Given the description of an element on the screen output the (x, y) to click on. 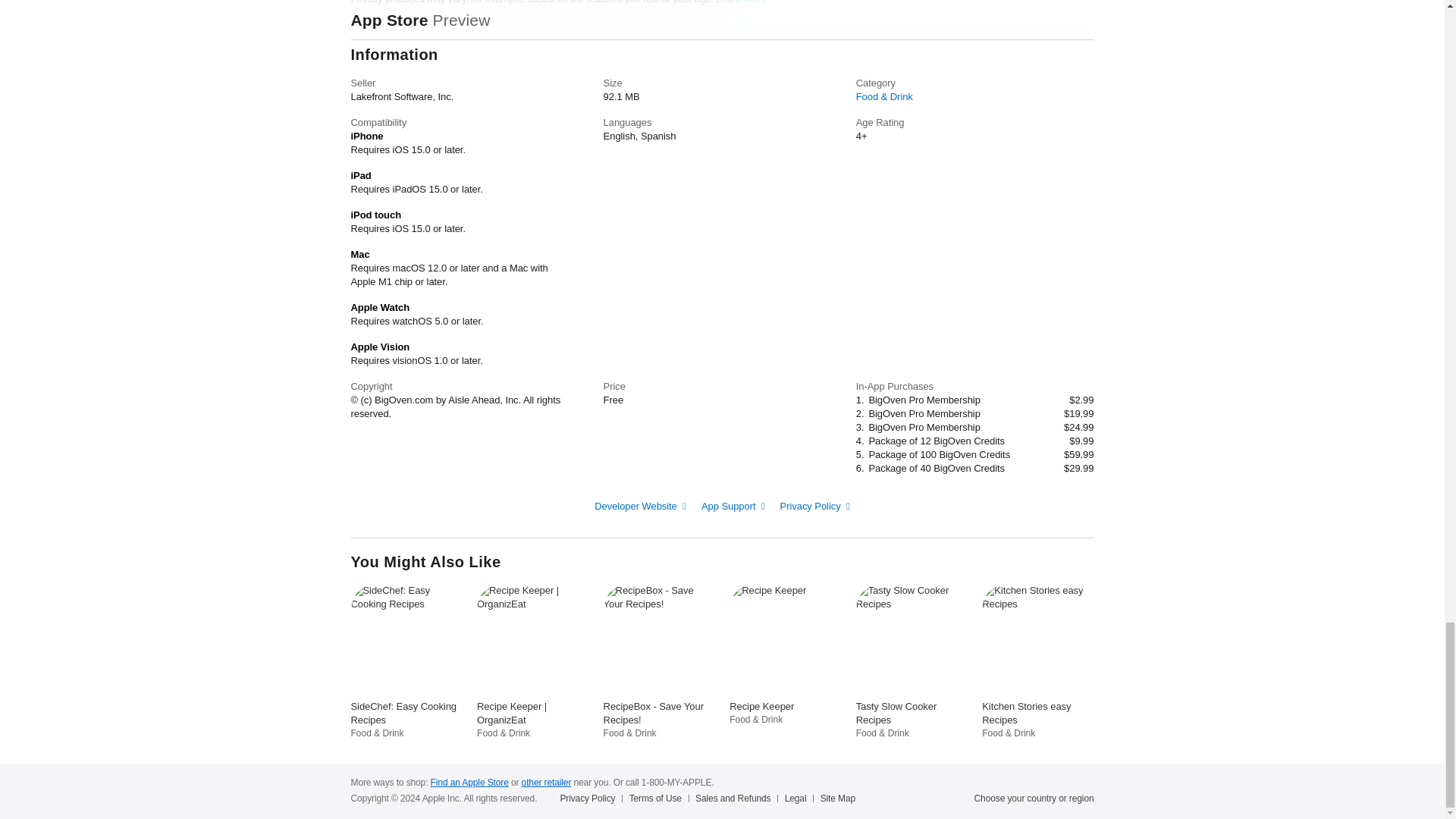
Learn More (741, 2)
Developer Website (639, 505)
Find an Apple Store (469, 782)
other retailer (546, 782)
Choose your country or region (1034, 798)
App Support (733, 505)
Privacy Policy (815, 505)
